Given the description of an element on the screen output the (x, y) to click on. 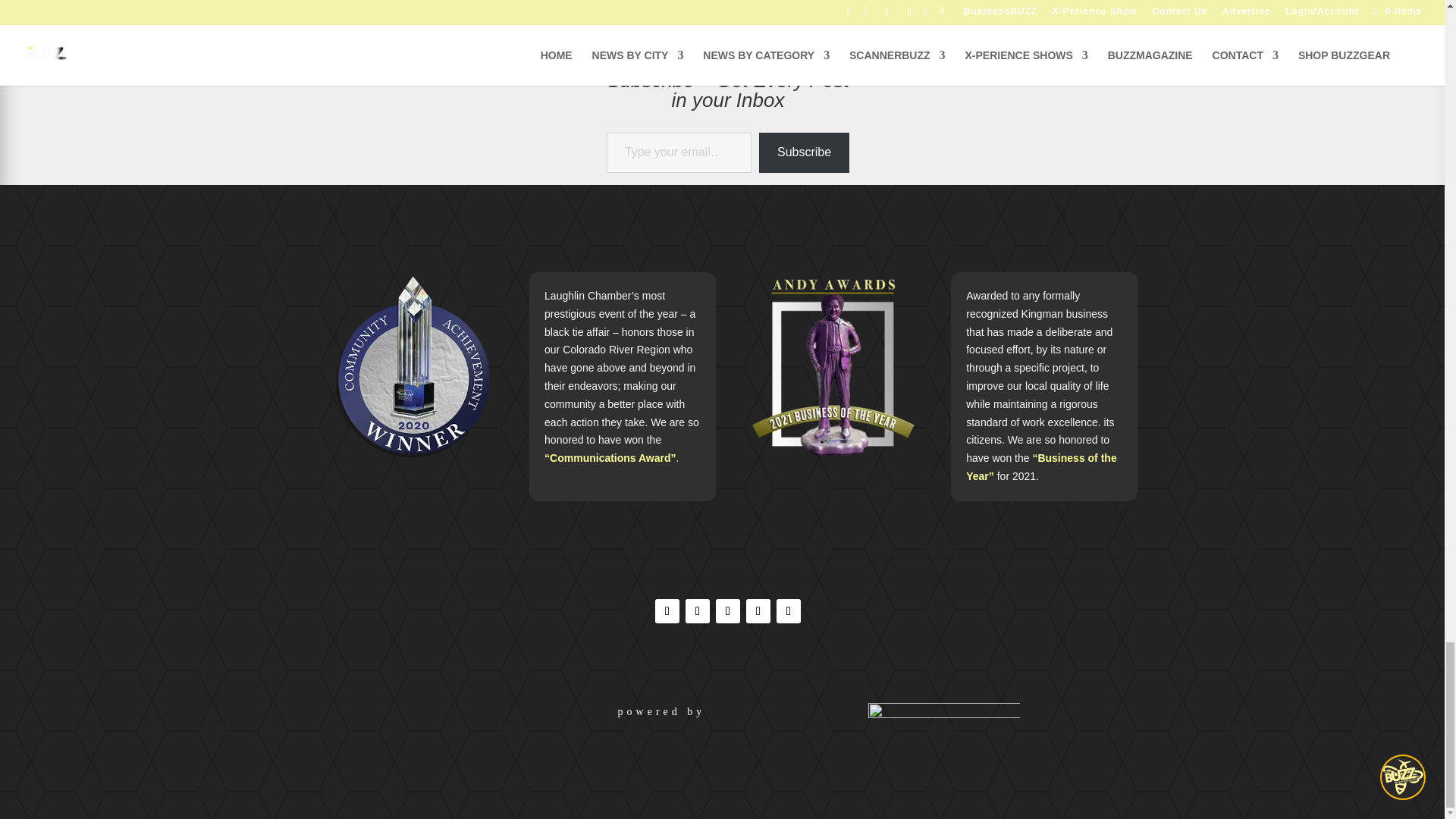
Follow on X (757, 610)
Follow on Instagram (697, 610)
Follow on Youtube (788, 610)
Communtiy acheivement Award 400x (411, 364)
Follow on Facebook (667, 610)
2021 Andy Awards - Business of the Year 2 copy (832, 365)
Please fill in this field. (679, 152)
Follow on TikTok (727, 610)
Talisman Consulting - Magic Marketing copy- Horizontal (943, 717)
